Given the description of an element on the screen output the (x, y) to click on. 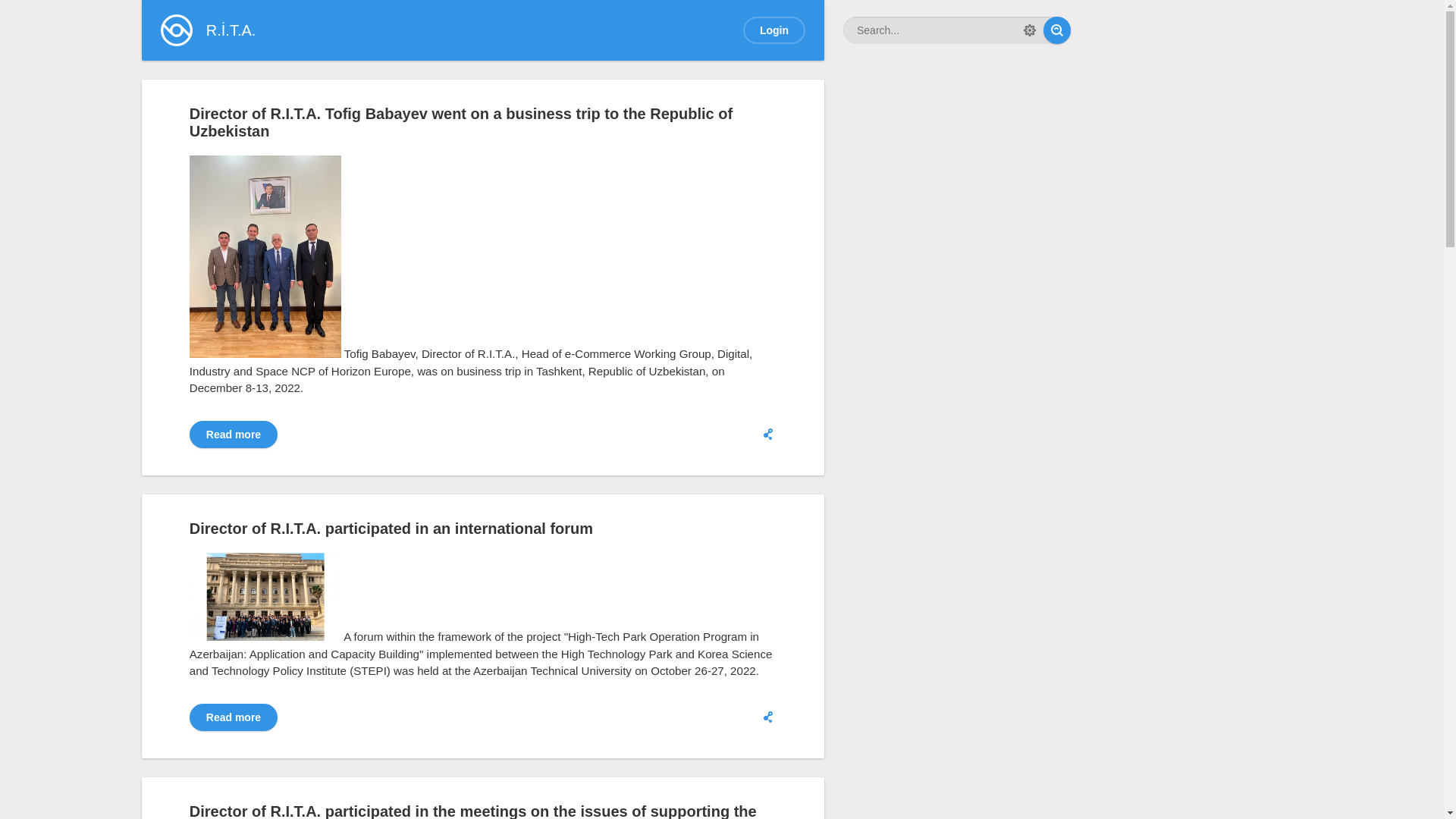
Login Element type: text (774, 29)
Read more Element type: text (233, 434)
Find Element type: hover (1056, 29)
Director of R.I.T.A. participated in an international forum Element type: text (391, 528)
Extended Search Element type: hover (1029, 29)
Read more Element type: text (233, 717)
